Given the description of an element on the screen output the (x, y) to click on. 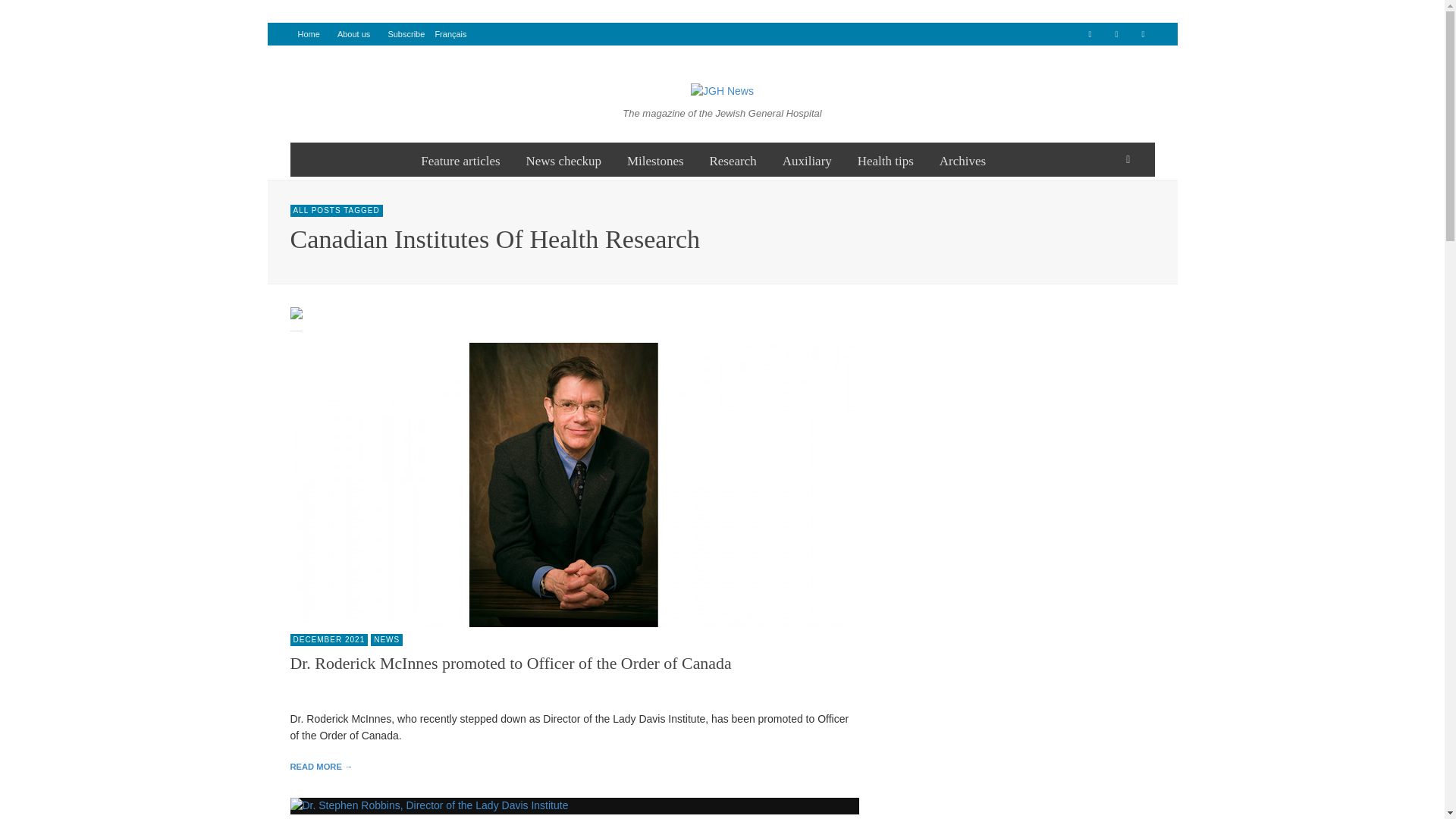
DECEMBER 2021 (328, 639)
News checkup (562, 159)
Health tips (884, 159)
View all posts in News (387, 639)
Subscribe (406, 33)
Facebook (1089, 33)
Youtube (1142, 33)
Milestones (655, 159)
Home (307, 33)
Feature articles (460, 159)
View all posts in December 2021 (328, 639)
Research (732, 159)
About us (353, 33)
Auxiliary (807, 159)
